Given the description of an element on the screen output the (x, y) to click on. 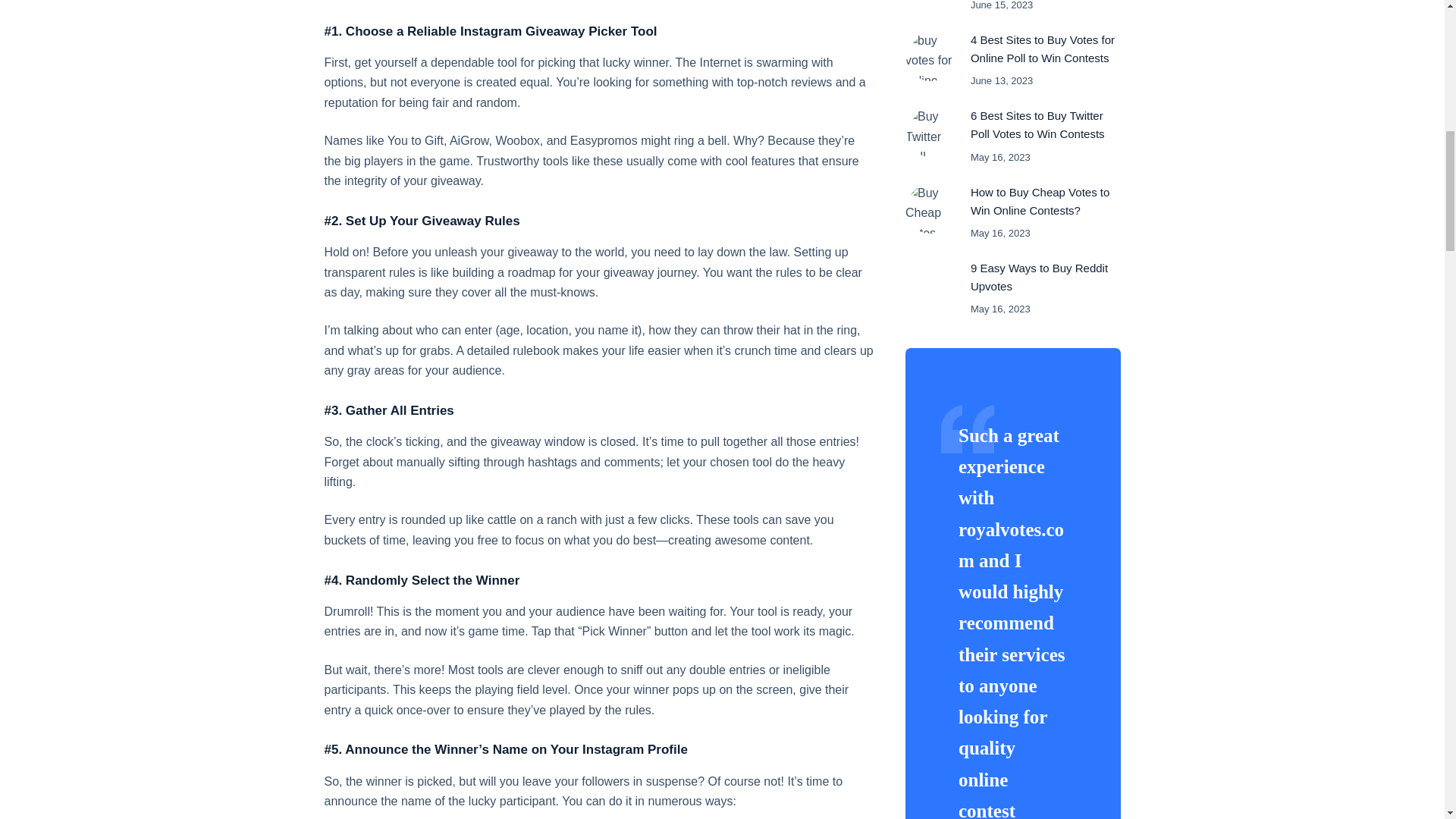
4 Best Sites to Buy Votes for Online Poll to Win Contests (1043, 48)
